Given the description of an element on the screen output the (x, y) to click on. 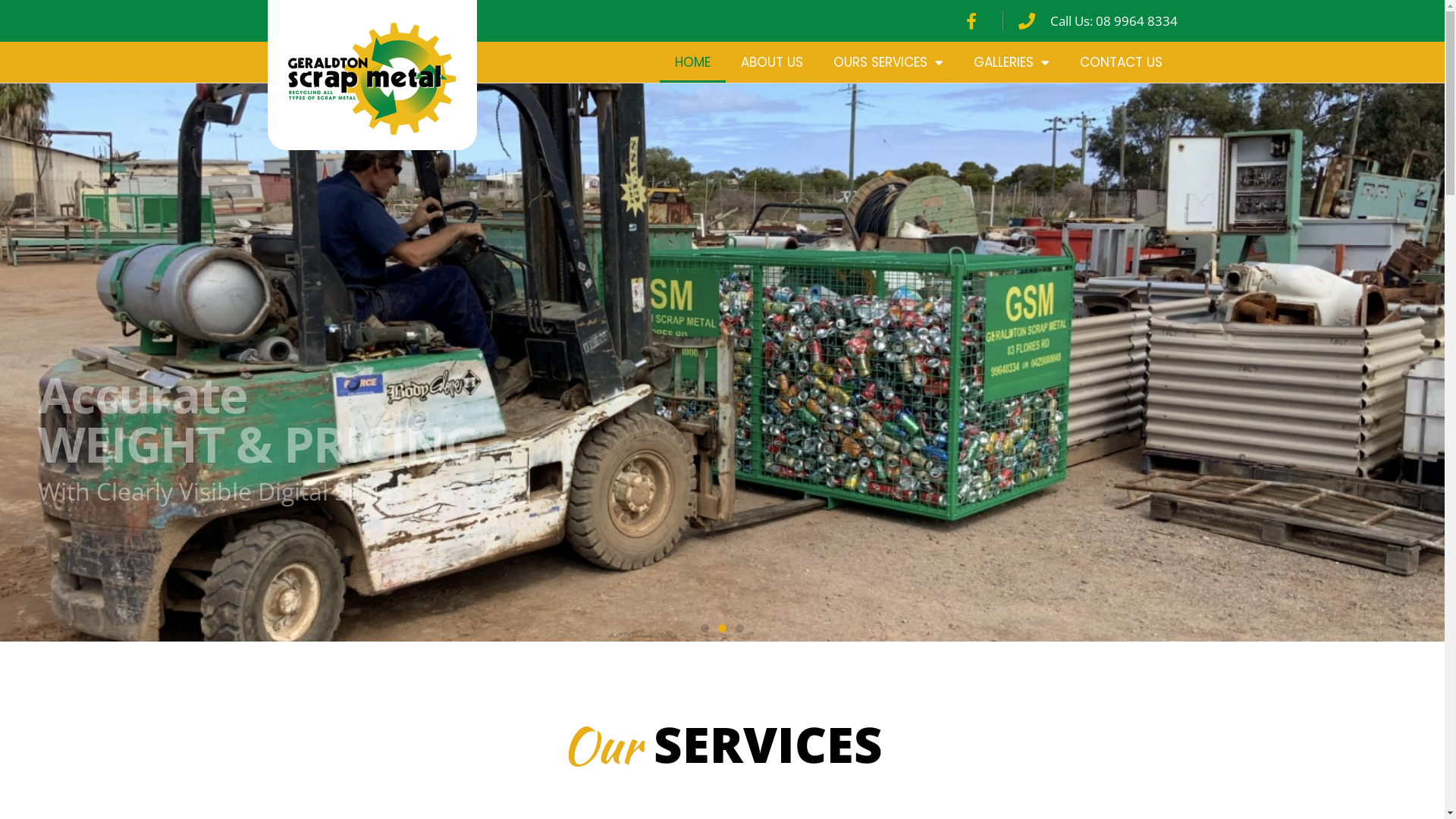
HOME Element type: text (692, 61)
ABOUT US Element type: text (770, 61)
Call Us: 08 9964 8334 Element type: text (1095, 20)
CONTACT US Element type: text (1120, 61)
GALLERIES Element type: text (1011, 61)
OURS SERVICES Element type: text (887, 61)
